Given the description of an element on the screen output the (x, y) to click on. 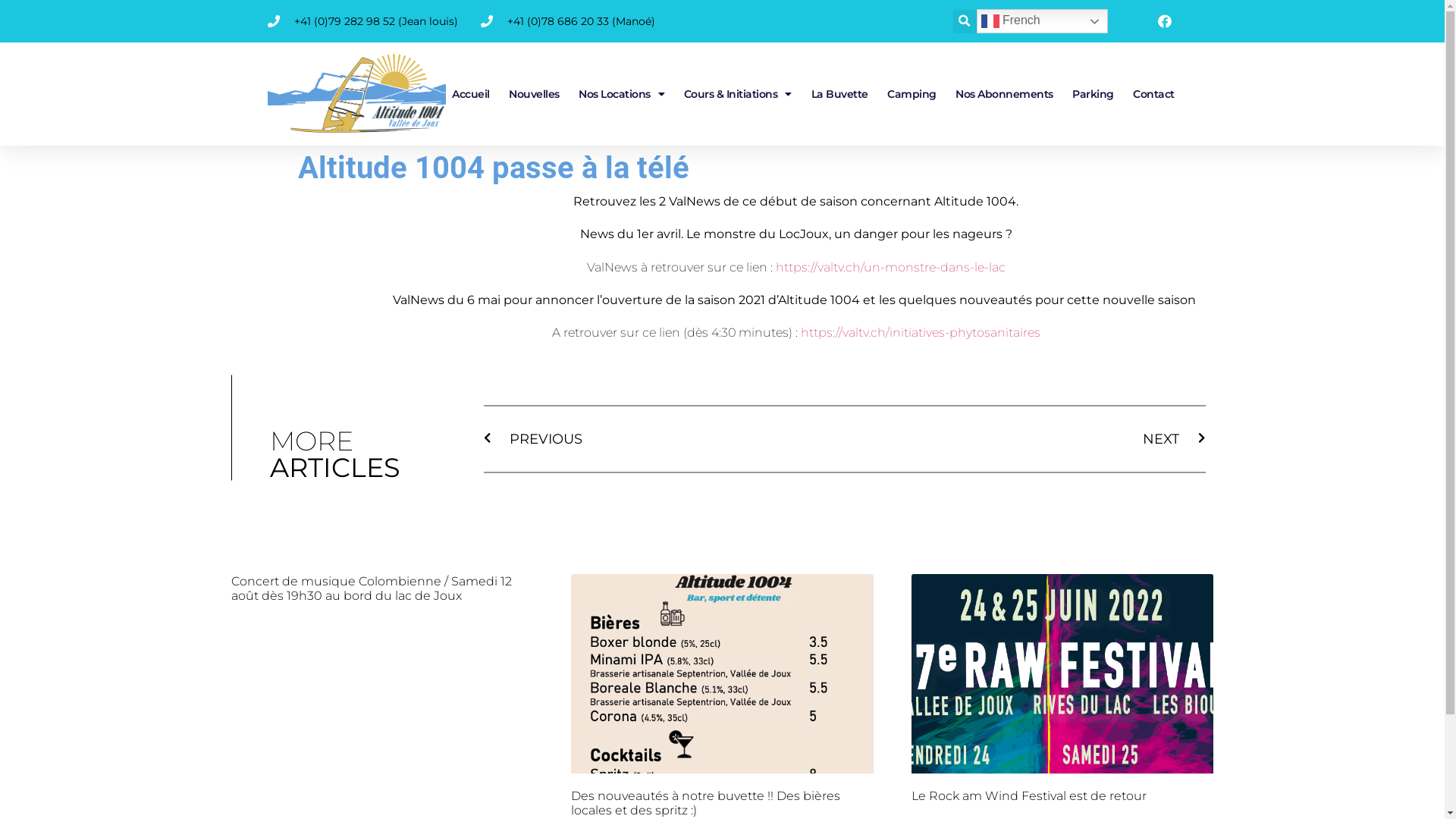
Nouvelles Element type: text (534, 93)
Parking Element type: text (1092, 93)
Nos Locations Element type: text (622, 93)
Camping Element type: text (911, 93)
La Buvette Element type: text (839, 93)
Le Rock am Wind Festival est de retour Element type: text (1028, 795)
PREVIOUS Element type: text (663, 439)
https://valtv.ch/un-monstre-dans-le-lac Element type: text (890, 267)
Nos Abonnements Element type: text (1003, 93)
French Element type: text (1041, 21)
Accueil Element type: text (470, 93)
https://valtv.ch/initiatives-phytosanitaires Element type: text (920, 332)
Cours & Initiations Element type: text (737, 93)
Contact Element type: text (1152, 93)
NEXT Element type: text (1024, 439)
